Given the description of an element on the screen output the (x, y) to click on. 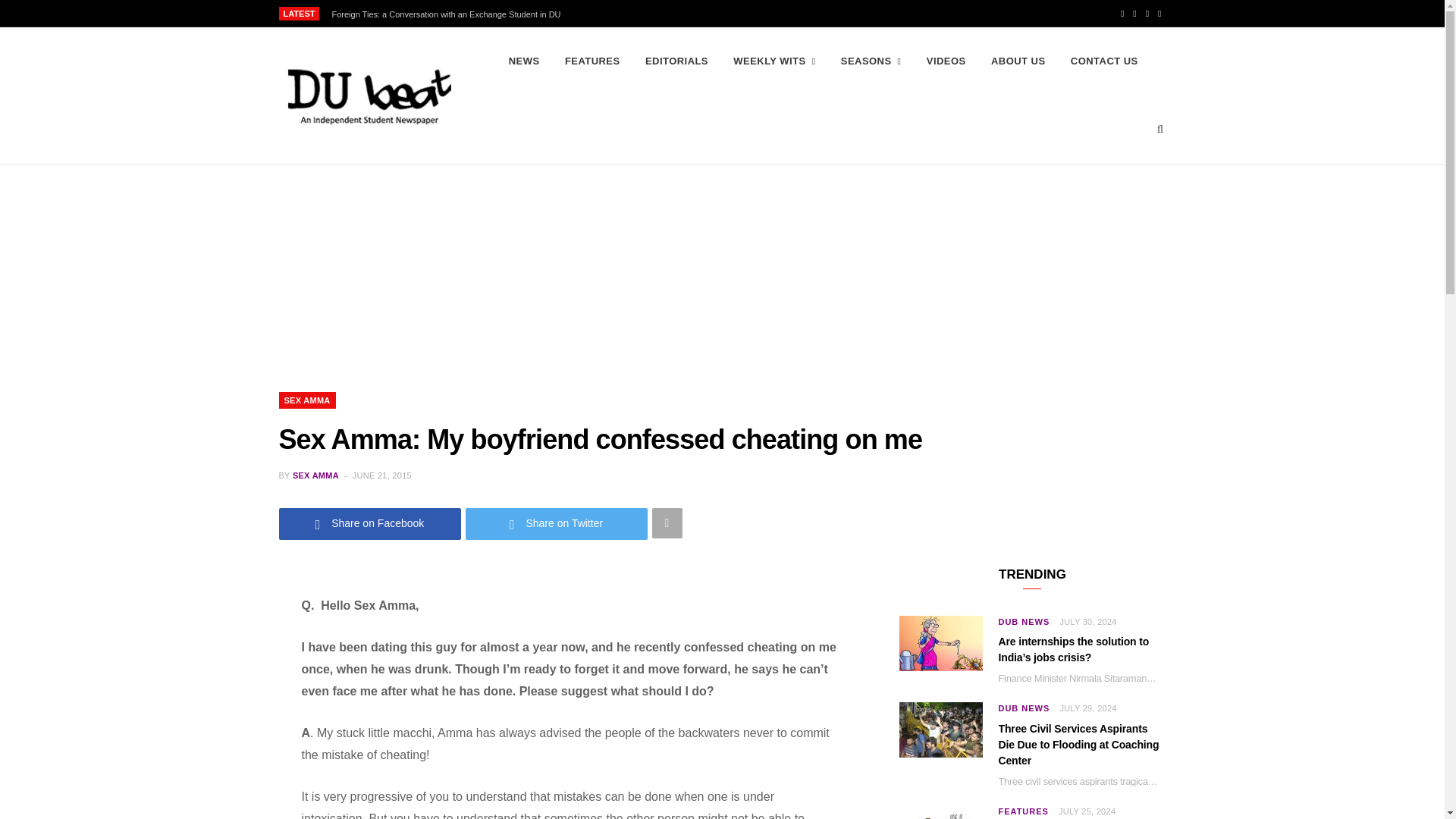
Foreign Ties: a Conversation with an Exchange Student in DU (449, 14)
FEATURES (592, 61)
Foreign Ties: a Conversation with an Exchange Student in DU (449, 14)
EDITORIALS (676, 61)
WEEKLY WITS (774, 61)
